Given the description of an element on the screen output the (x, y) to click on. 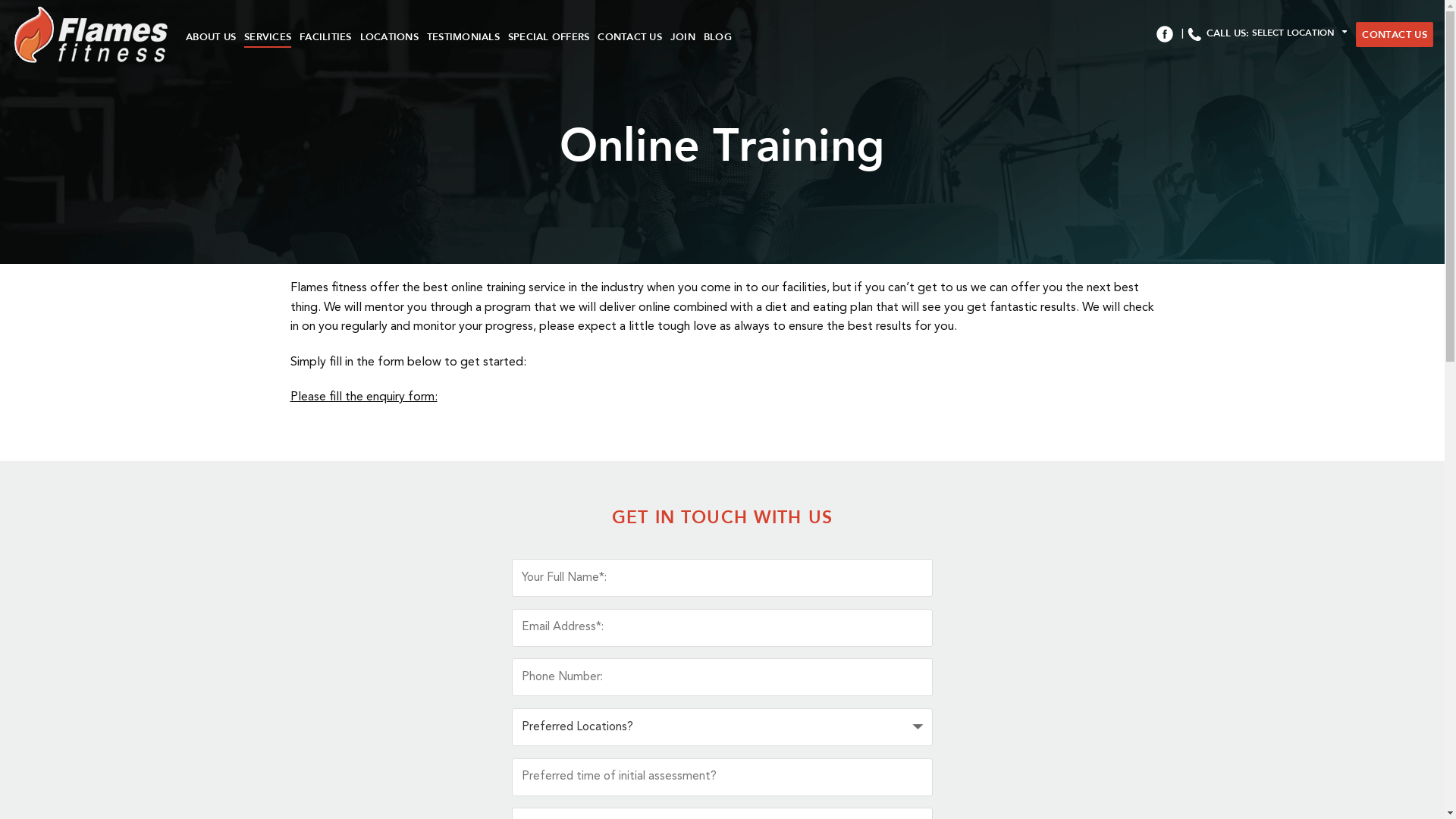
CONTACT US Element type: text (629, 36)
CONTACT US Element type: text (1394, 33)
JOIN Element type: text (682, 36)
ABOUT US Element type: text (210, 36)
LOCATIONS Element type: text (388, 36)
FACILITIES Element type: text (325, 36)
Flames Fitness -  Element type: hover (98, 33)
TESTIMONIALS Element type: text (462, 36)
BLOG Element type: text (717, 36)
SERVICES Element type: text (267, 36)
SPECIAL OFFERS Element type: text (548, 36)
